Given the description of an element on the screen output the (x, y) to click on. 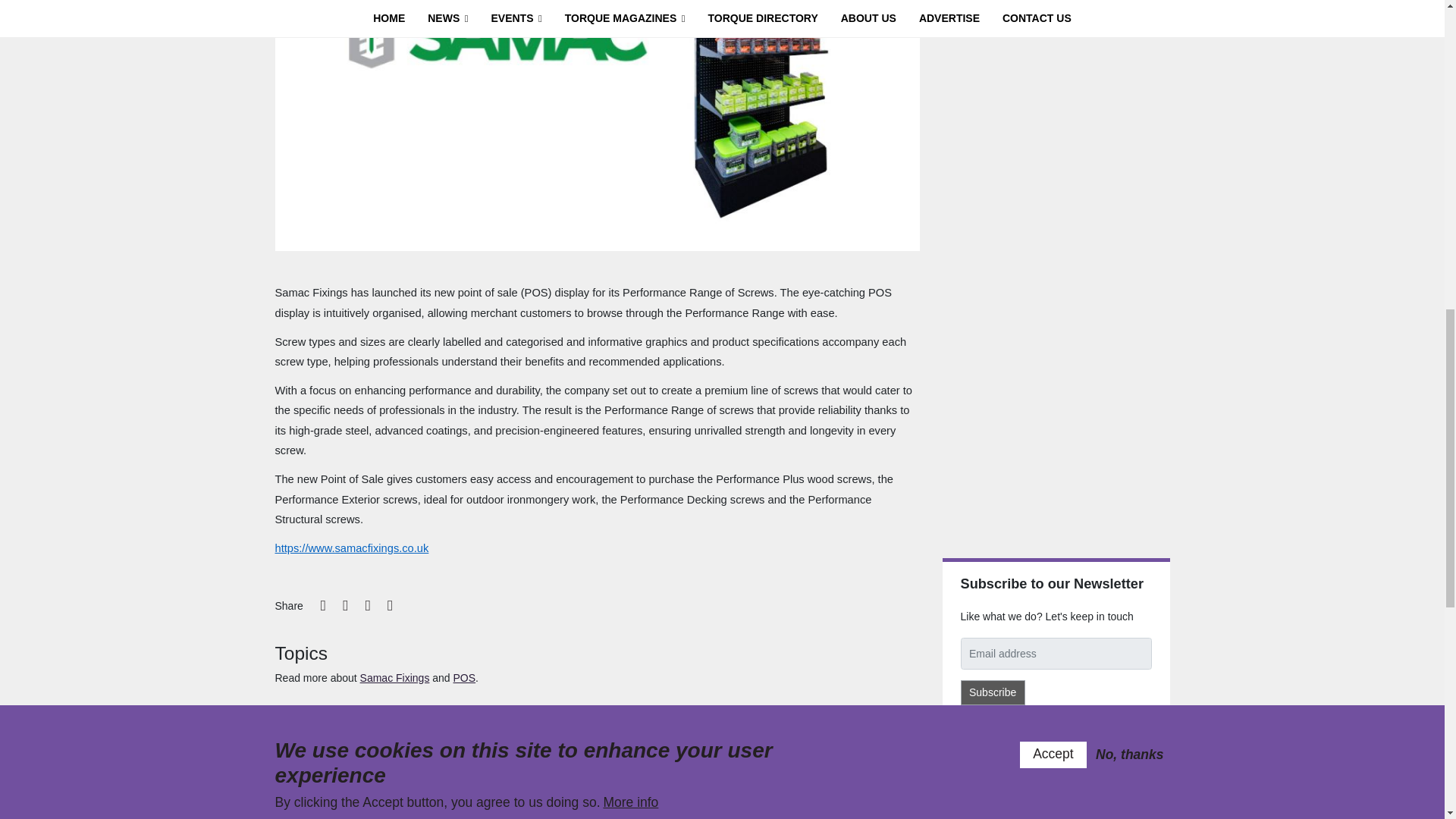
Share on Facebook (345, 605)
3rd party ad content (1055, 227)
3rd party ad content (1055, 55)
Share on Whatsapp (389, 605)
Share on Twitter (323, 605)
Share on LinkedIn (367, 605)
3rd party ad content (1055, 440)
